Given the description of an element on the screen output the (x, y) to click on. 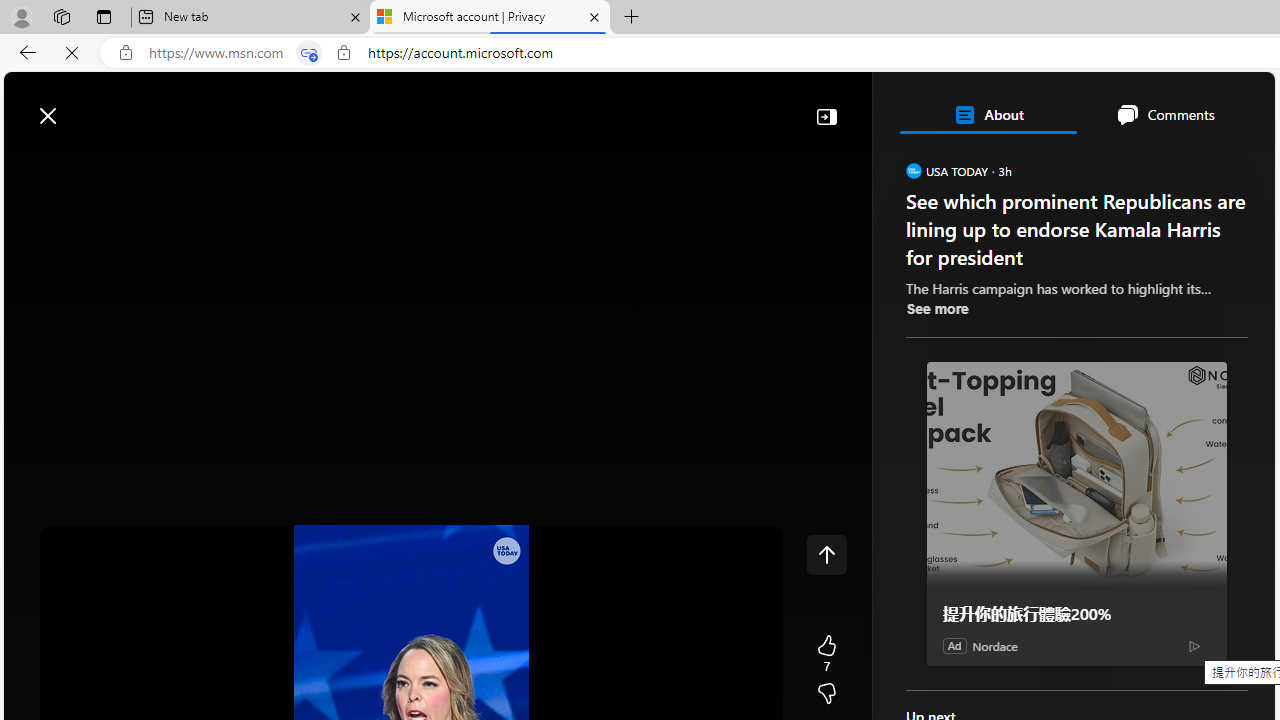
7 Like (826, 653)
USA TODAY (912, 170)
Love dogs? We do, too. (1084, 386)
Enter your search term (644, 106)
Open navigation menu (29, 162)
The Associated Press (974, 645)
